Given the description of an element on the screen output the (x, y) to click on. 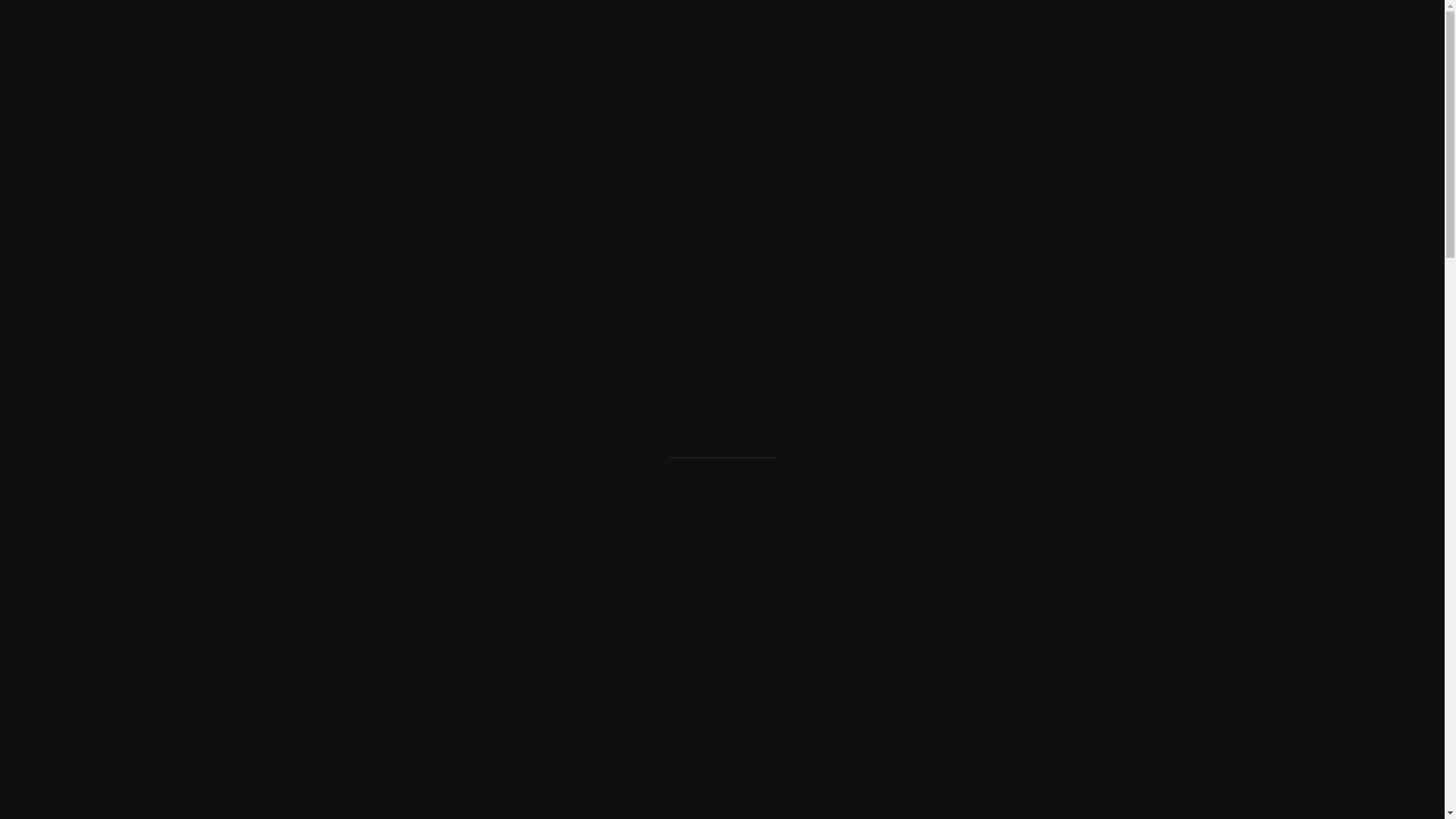
CATHERINE Element type: text (515, 129)
BAC TALK Element type: text (330, 129)
